Given the description of an element on the screen output the (x, y) to click on. 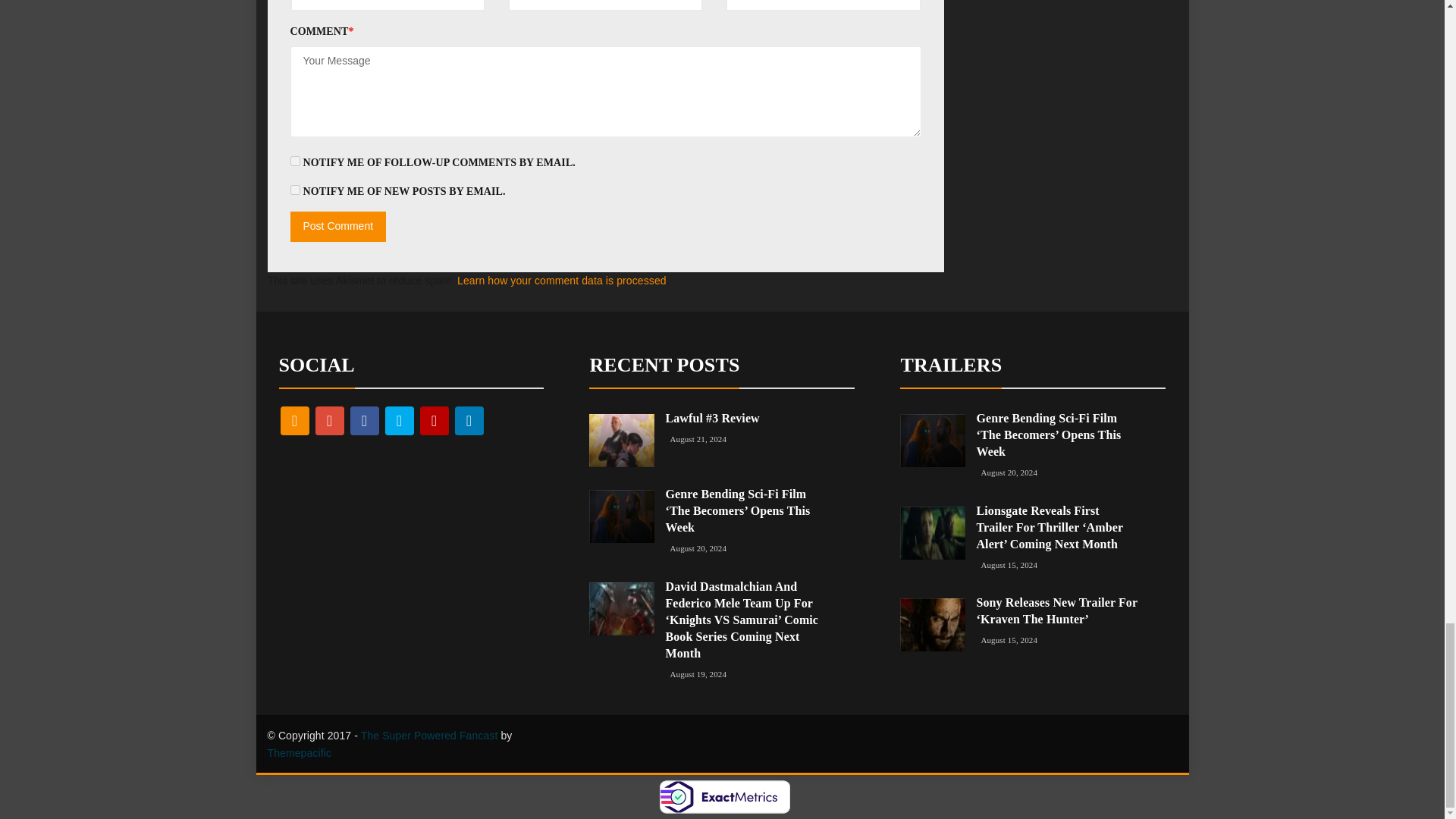
subscribe (294, 161)
Post Comment (337, 226)
subscribe (294, 189)
